Given the description of an element on the screen output the (x, y) to click on. 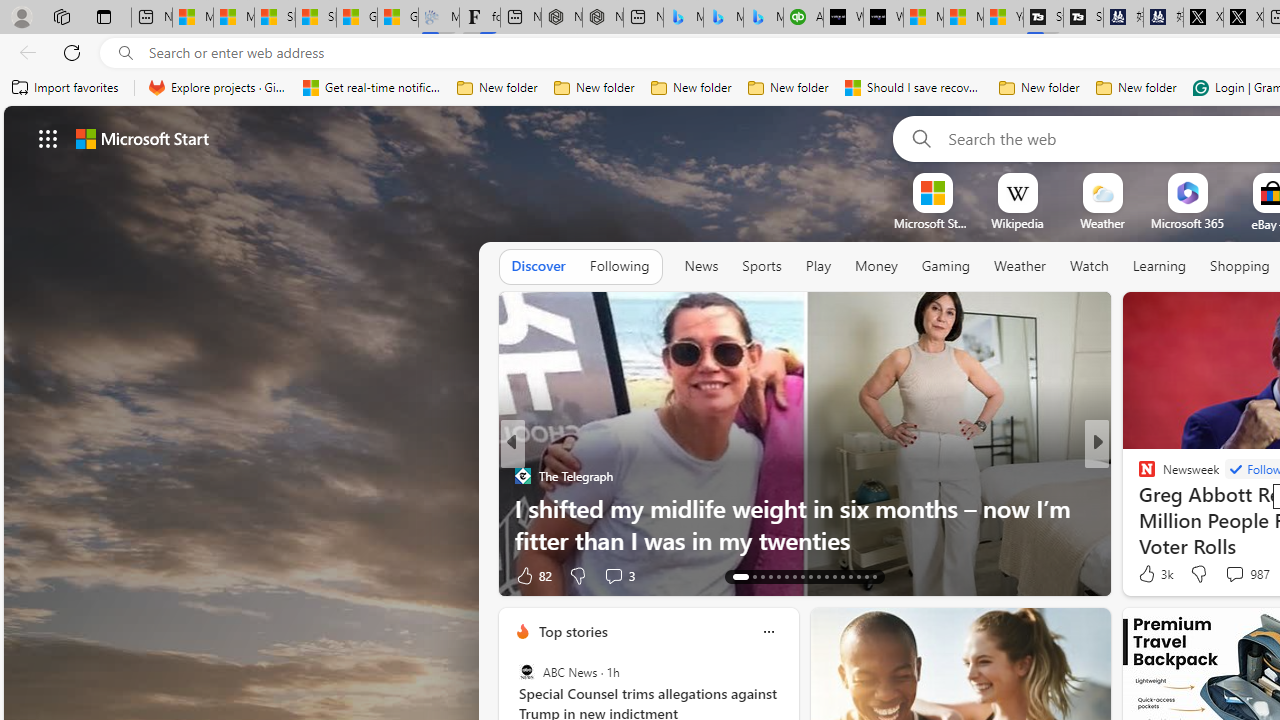
AutomationID: tab-28 (865, 576)
AutomationID: tab-13 (740, 576)
Shopping (1240, 265)
View comments 3 Comment (613, 575)
14 Like (1149, 574)
379 Like (1151, 574)
AutomationID: tab-20 (801, 576)
Microsoft Bing Travel - Stays in Bangkok, Bangkok, Thailand (723, 17)
